Given the description of an element on the screen output the (x, y) to click on. 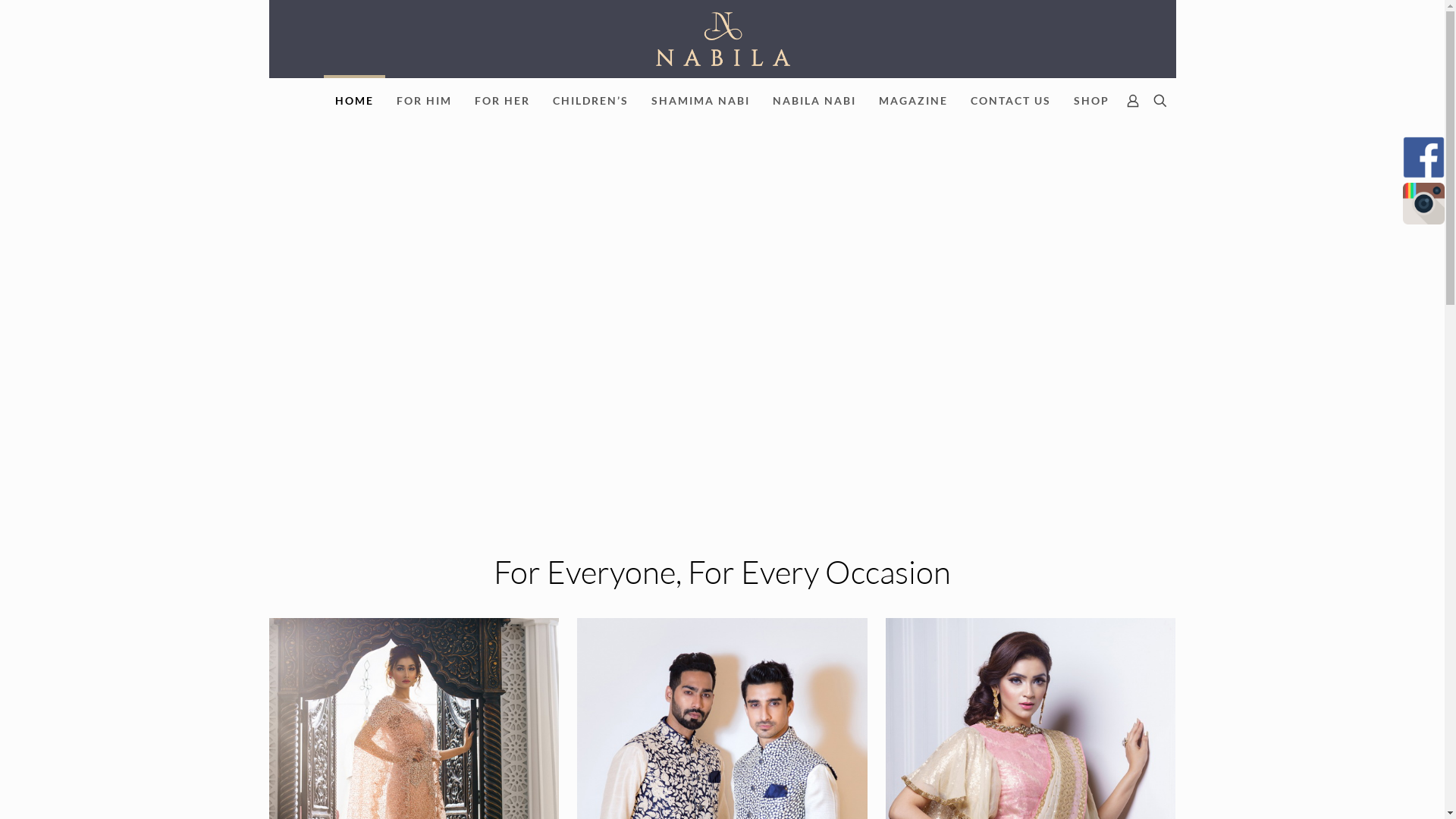
NABILA NABI Element type: text (814, 100)
FOR HER Element type: text (502, 100)
MAGAZINE Element type: text (913, 100)
HOME Element type: text (354, 100)
FOR HIM Element type: text (424, 100)
CONTACT US Element type: text (1010, 100)
SHOP Element type: text (1091, 100)
Nabila Boutiques Ltd Element type: hover (721, 38)
SHAMIMA NABI Element type: text (700, 100)
